Given the description of an element on the screen output the (x, y) to click on. 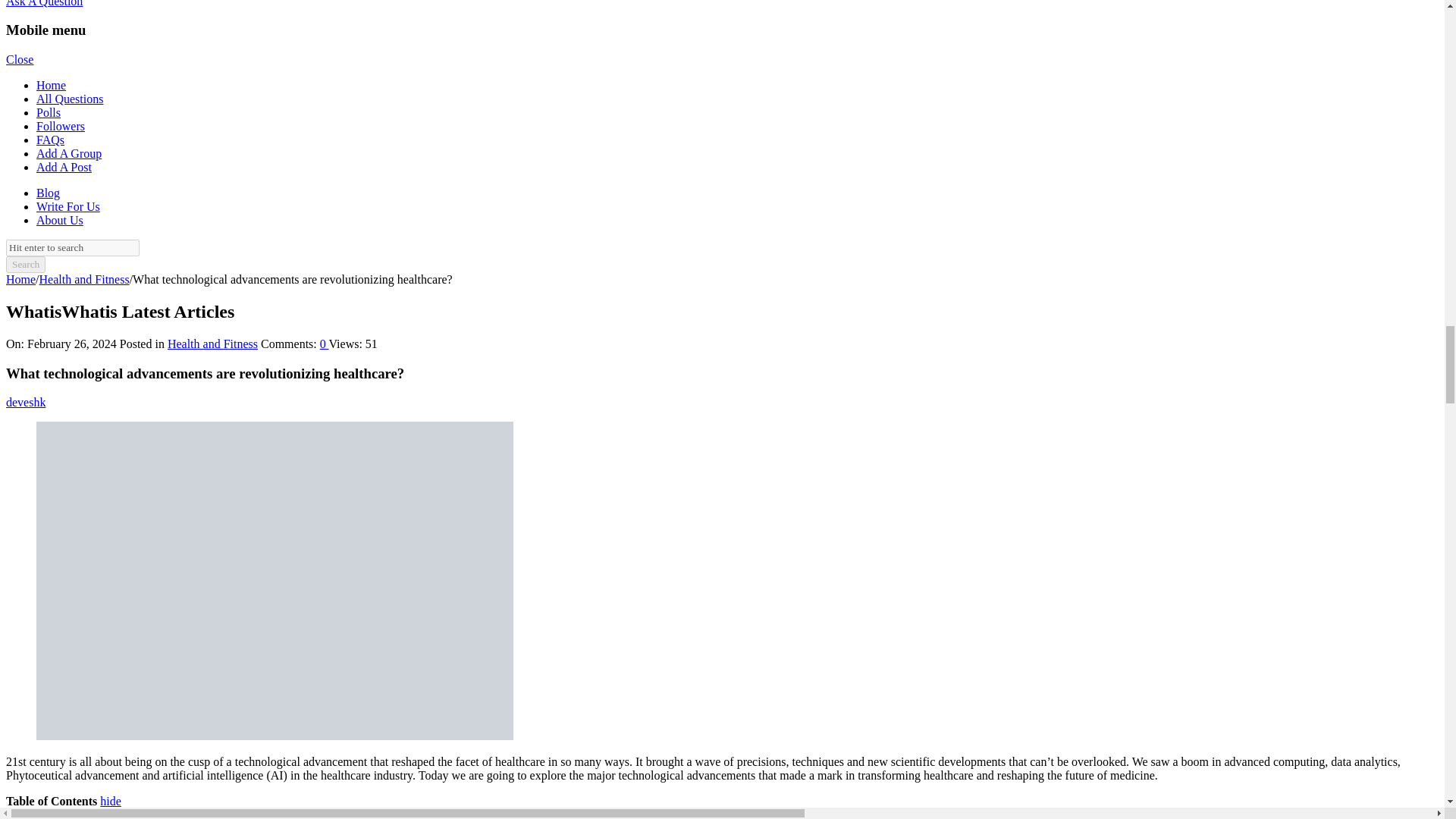
Followers (60, 125)
Write For Us (68, 205)
Home (19, 278)
About Us (59, 219)
Polls (48, 112)
Home (19, 278)
Search (25, 264)
FAQs (50, 139)
Hit enter to search (72, 247)
